Given the description of an element on the screen output the (x, y) to click on. 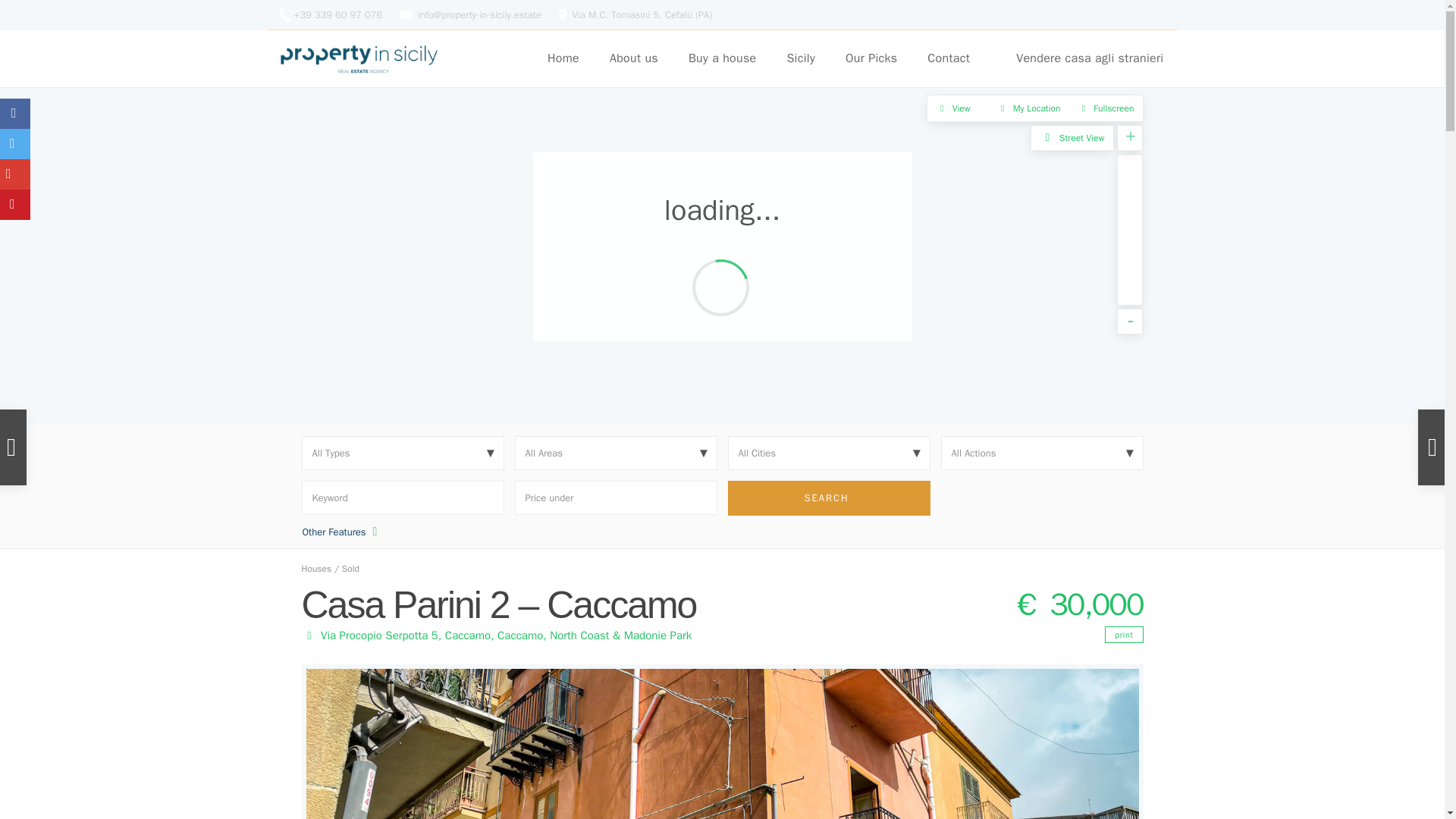
Search  (829, 497)
